Given the description of an element on the screen output the (x, y) to click on. 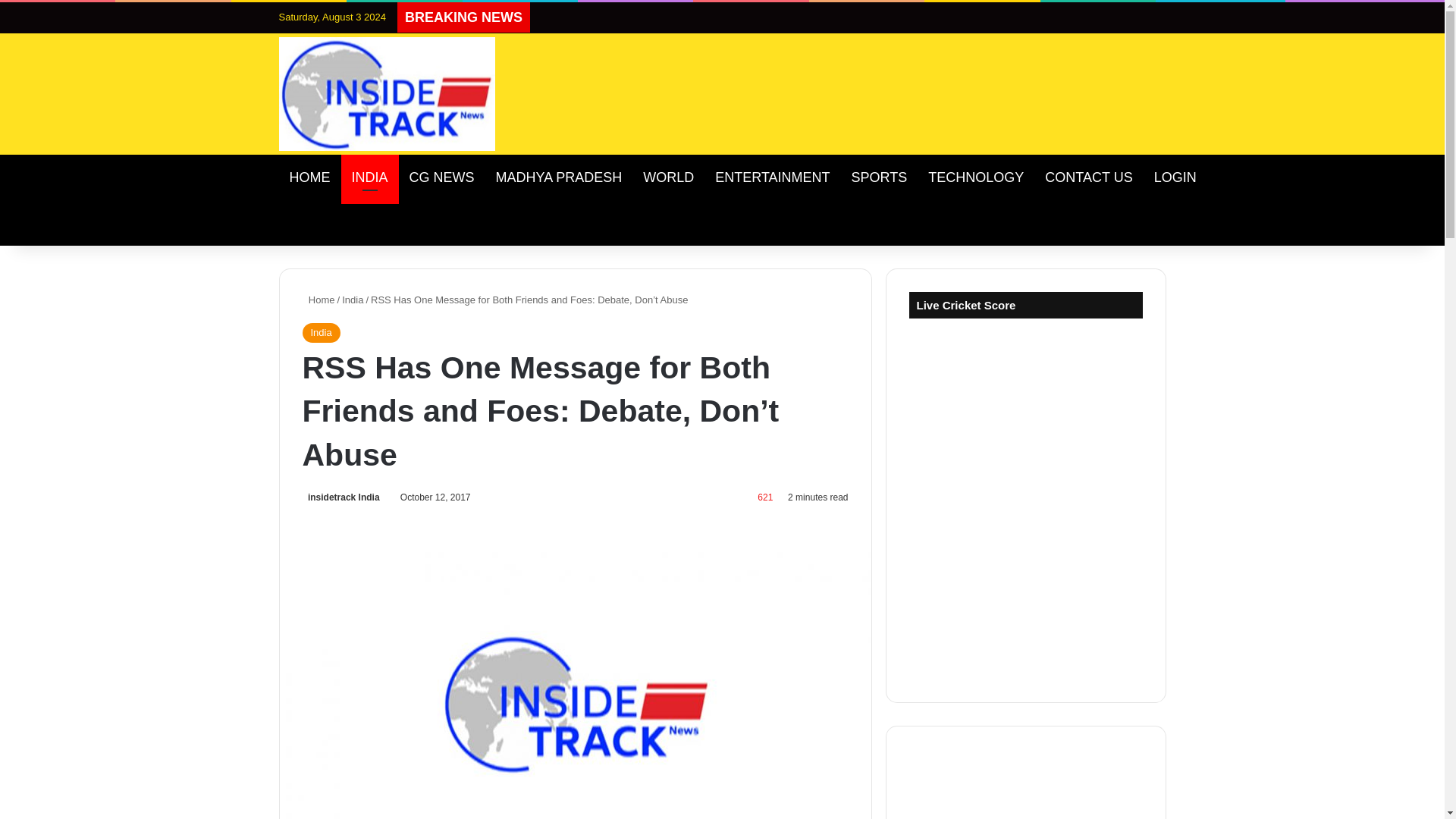
CONTACT US (1087, 176)
LOGIN (1174, 176)
insidetrack India (339, 497)
TECHNOLOGY (975, 176)
INDIA (369, 176)
WORLD (667, 176)
Inside Track India (387, 93)
India (352, 299)
insidetrack India (339, 497)
ENTERTAINMENT (772, 176)
